Given the description of an element on the screen output the (x, y) to click on. 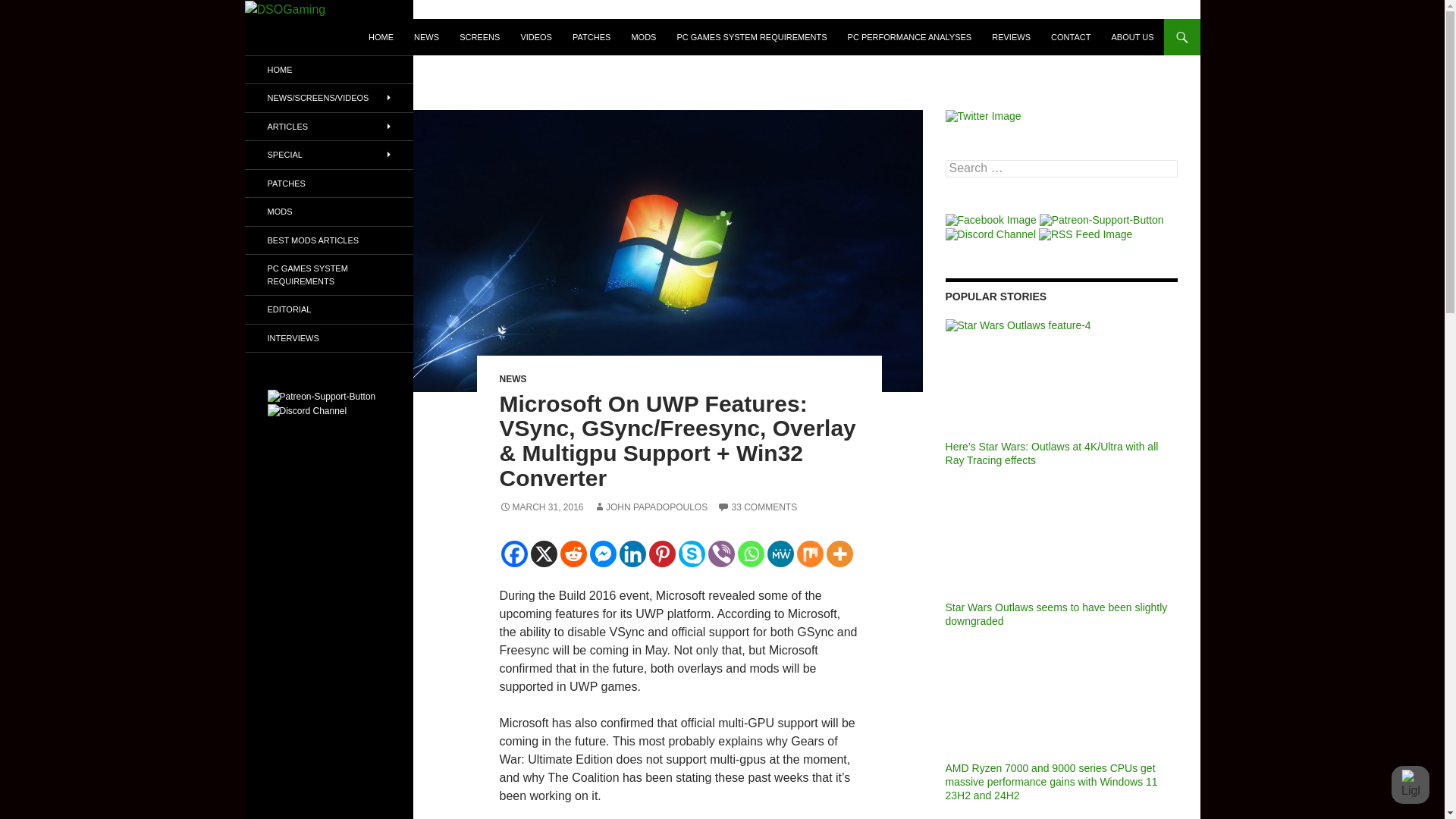
MeWe (780, 553)
CONTACT (1070, 36)
REVIEWS (1010, 36)
PC PERFORMANCE ANALYSES (909, 36)
33 COMMENTS (756, 507)
SCREENS (478, 36)
Skype (691, 553)
Whatsapp (749, 553)
